Given the description of an element on the screen output the (x, y) to click on. 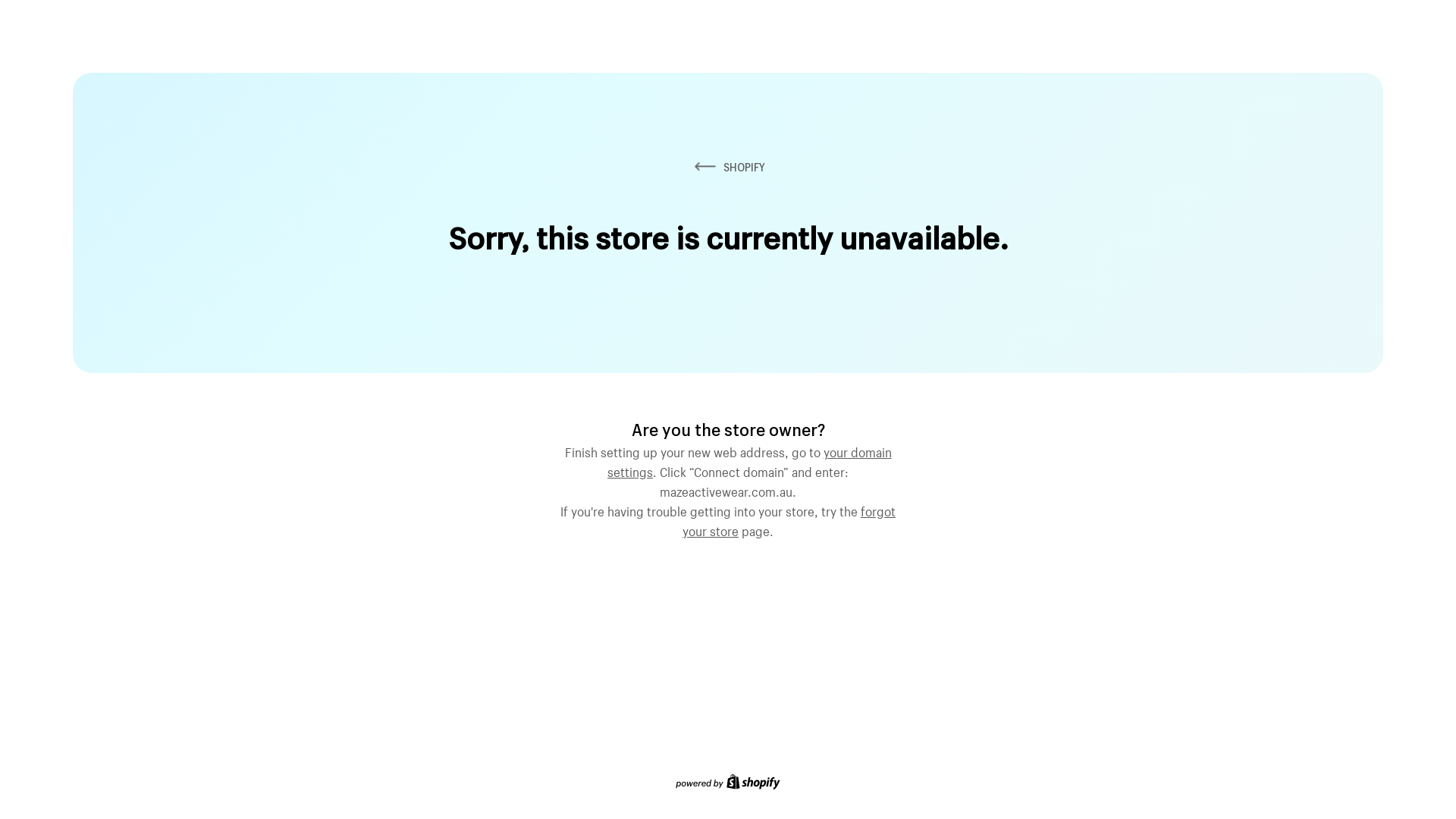
your domain settings Element type: text (749, 460)
SHOPIFY Element type: text (727, 167)
forgot your store Element type: text (788, 519)
